Given the description of an element on the screen output the (x, y) to click on. 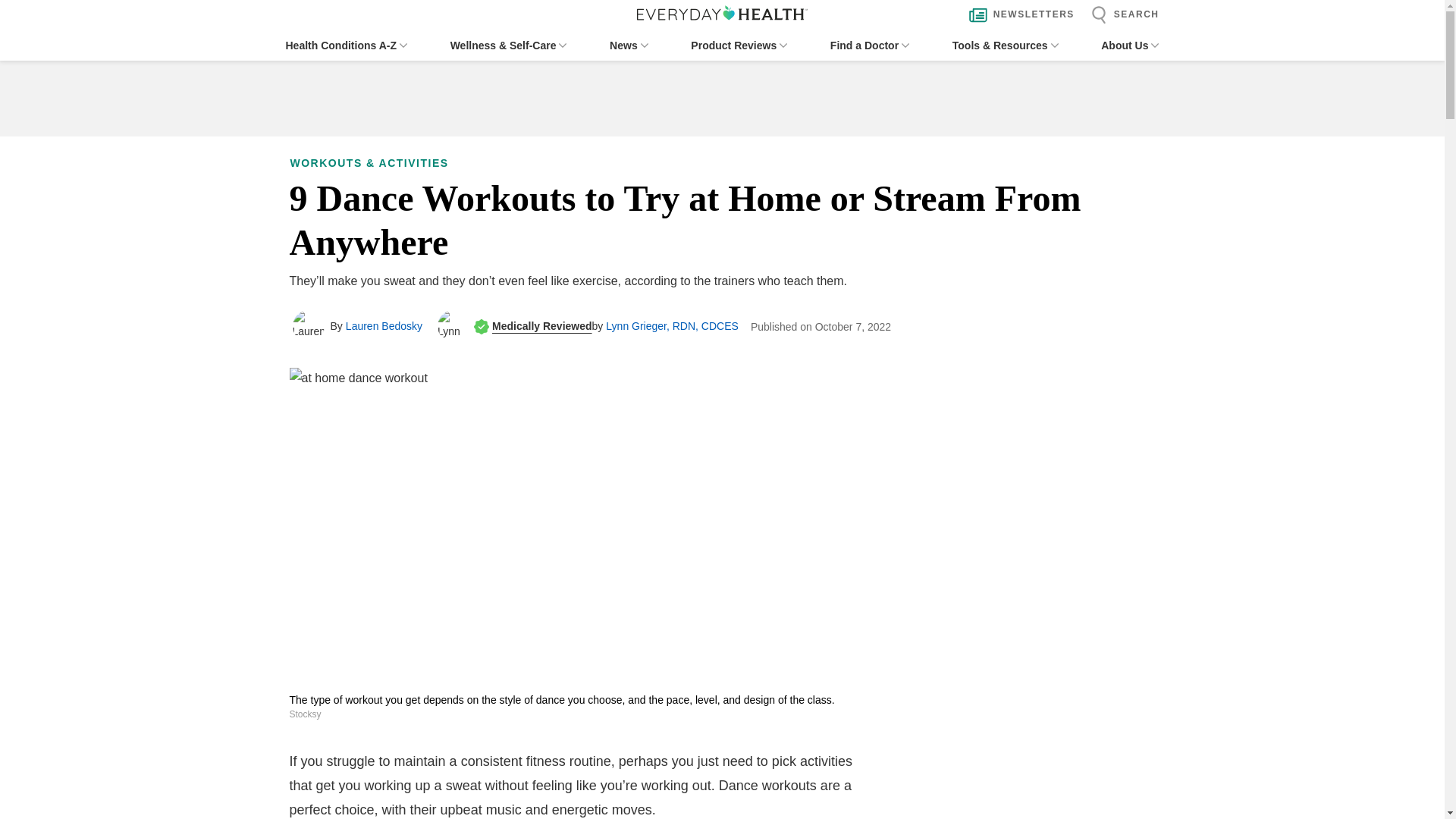
Product Reviews (738, 45)
News (628, 45)
Find a Doctor (868, 45)
SEARCH (1120, 15)
Health Conditions A-Z (345, 45)
NEWSLETTERS (1018, 15)
About Us (1129, 45)
